Given the description of an element on the screen output the (x, y) to click on. 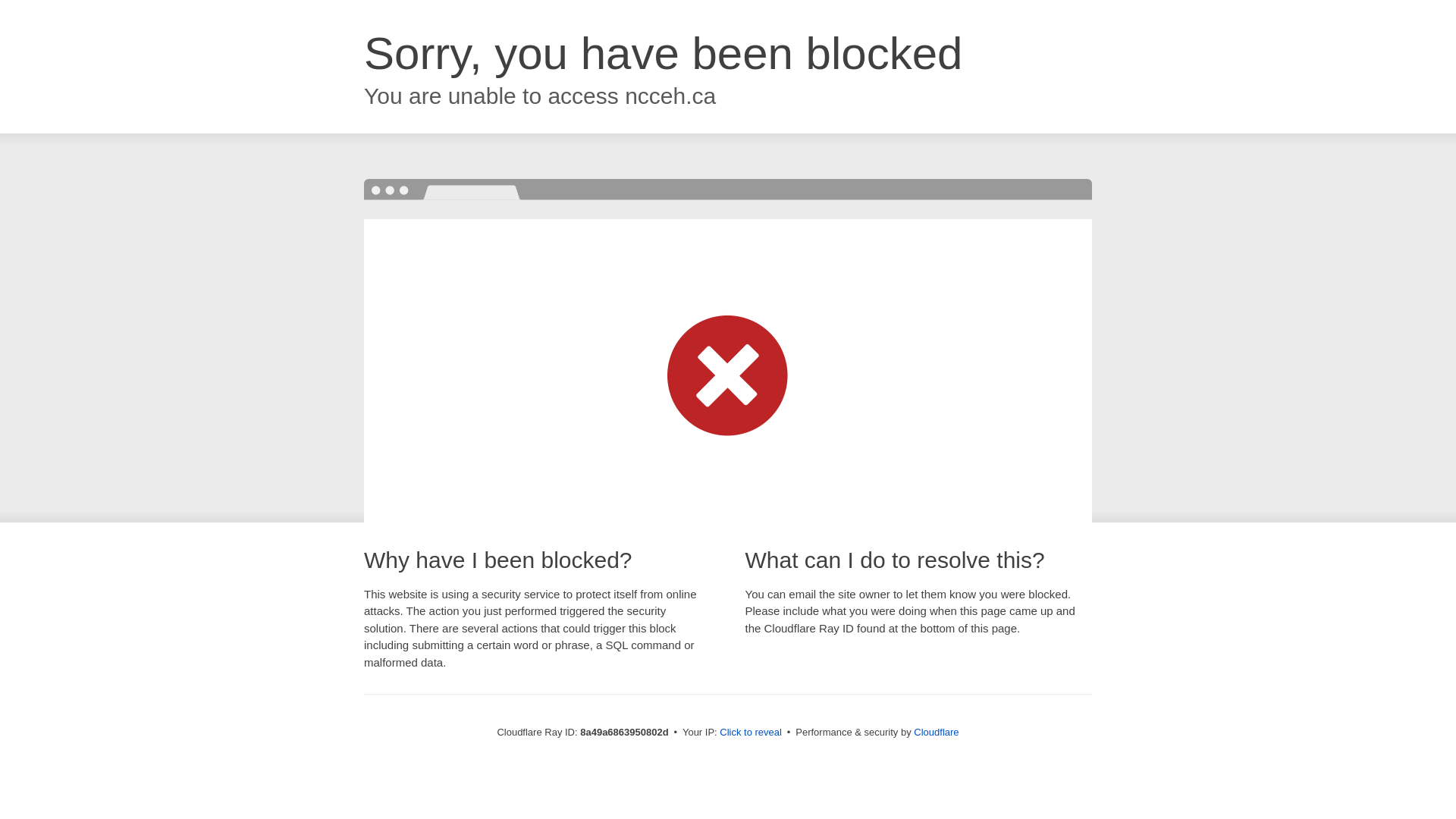
Click to reveal (750, 732)
Cloudflare (936, 731)
